Given the description of an element on the screen output the (x, y) to click on. 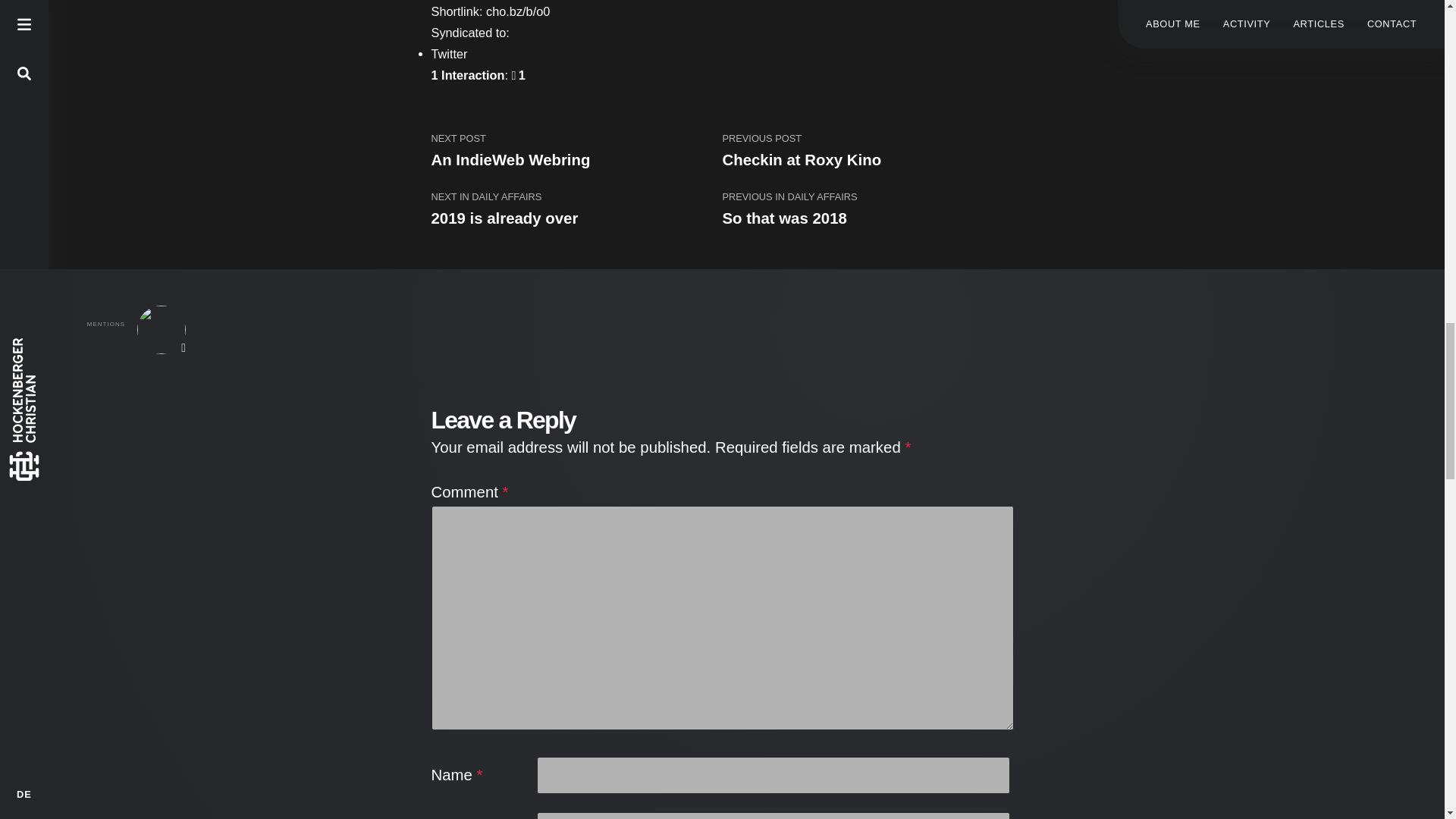
An IndieWeb Webring (509, 159)
2019 is already over (504, 217)
So that was 2018 (783, 217)
Twitter (448, 53)
Checkin at Roxy Kino (801, 159)
